Given the description of an element on the screen output the (x, y) to click on. 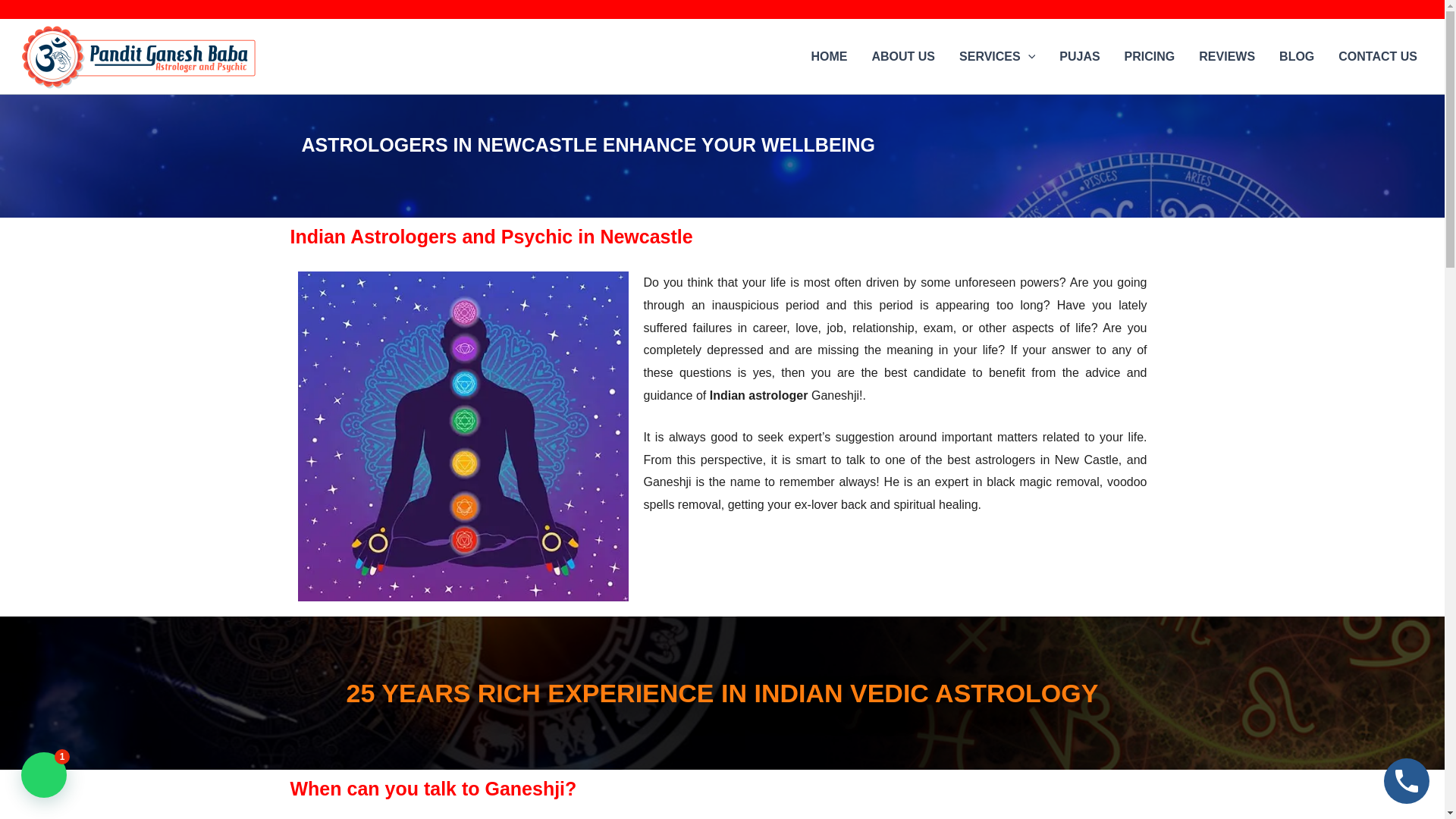
BLOG (1296, 55)
REVIEWS (1226, 55)
SERVICES (996, 55)
PUJAS (1079, 55)
ABOUT US (903, 55)
HOME (828, 55)
PRICING (1150, 55)
CONTACT US (1377, 55)
